Given the description of an element on the screen output the (x, y) to click on. 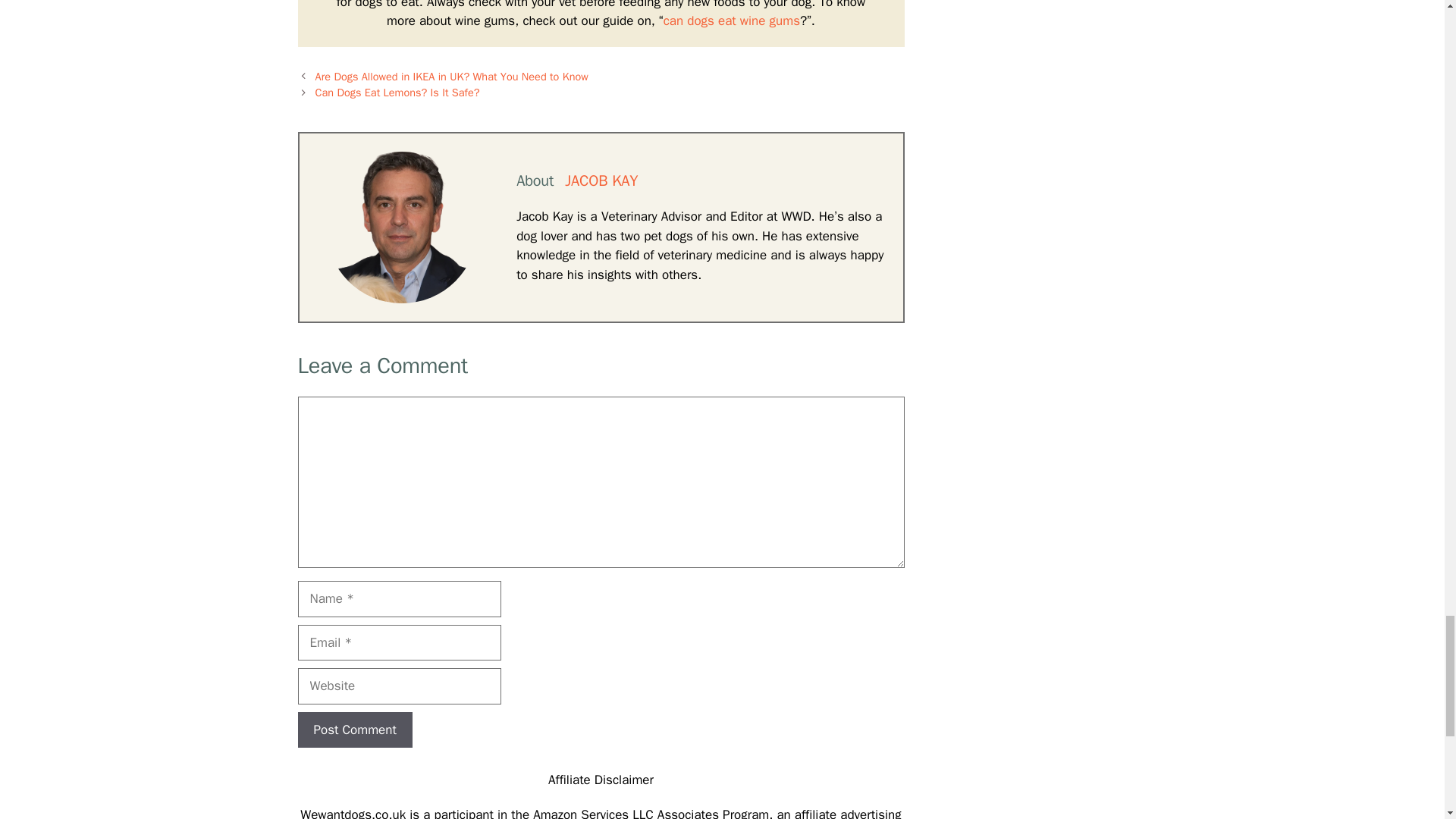
Can Dogs Eat Lemons? Is It Safe? (397, 92)
Post Comment (354, 729)
JACOB KAY (600, 180)
Are Dogs Allowed in IKEA in UK? What You Need to Know (451, 76)
Post Comment (354, 729)
can dogs eat wine gums (731, 20)
